Given the description of an element on the screen output the (x, y) to click on. 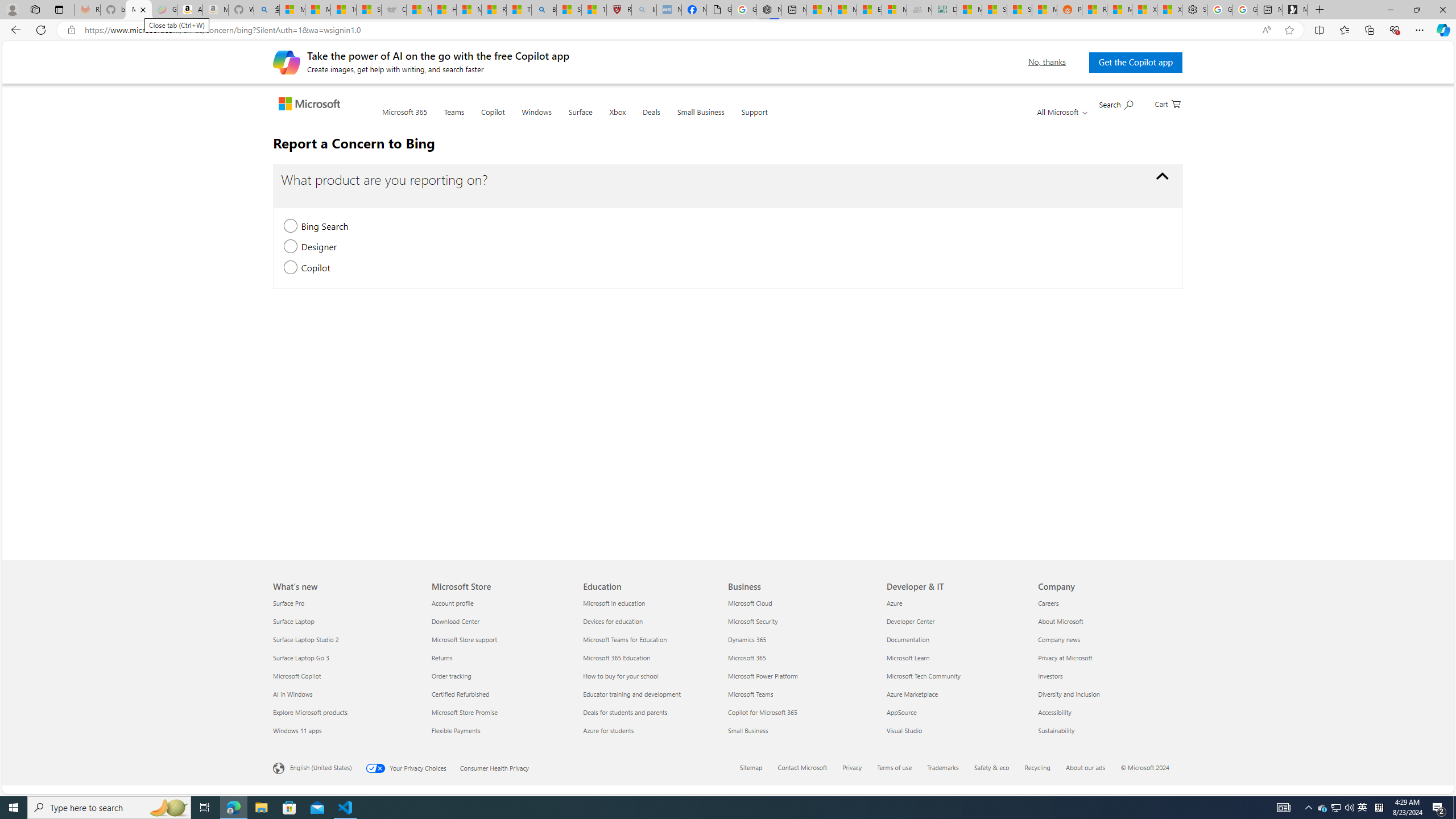
Xbox (617, 118)
Devices for education Education (612, 620)
0 items in shopping cart (1167, 103)
Diversity and inclusion (1107, 693)
Surface Pro (345, 602)
Create images, get help with writing, and search faster (286, 62)
Surface Pro What's new (288, 602)
Microsoft Copilot (345, 675)
Privacy at Microsoft Company (1065, 656)
Microsoft Teams (800, 693)
Teams (454, 118)
